Given the description of an element on the screen output the (x, y) to click on. 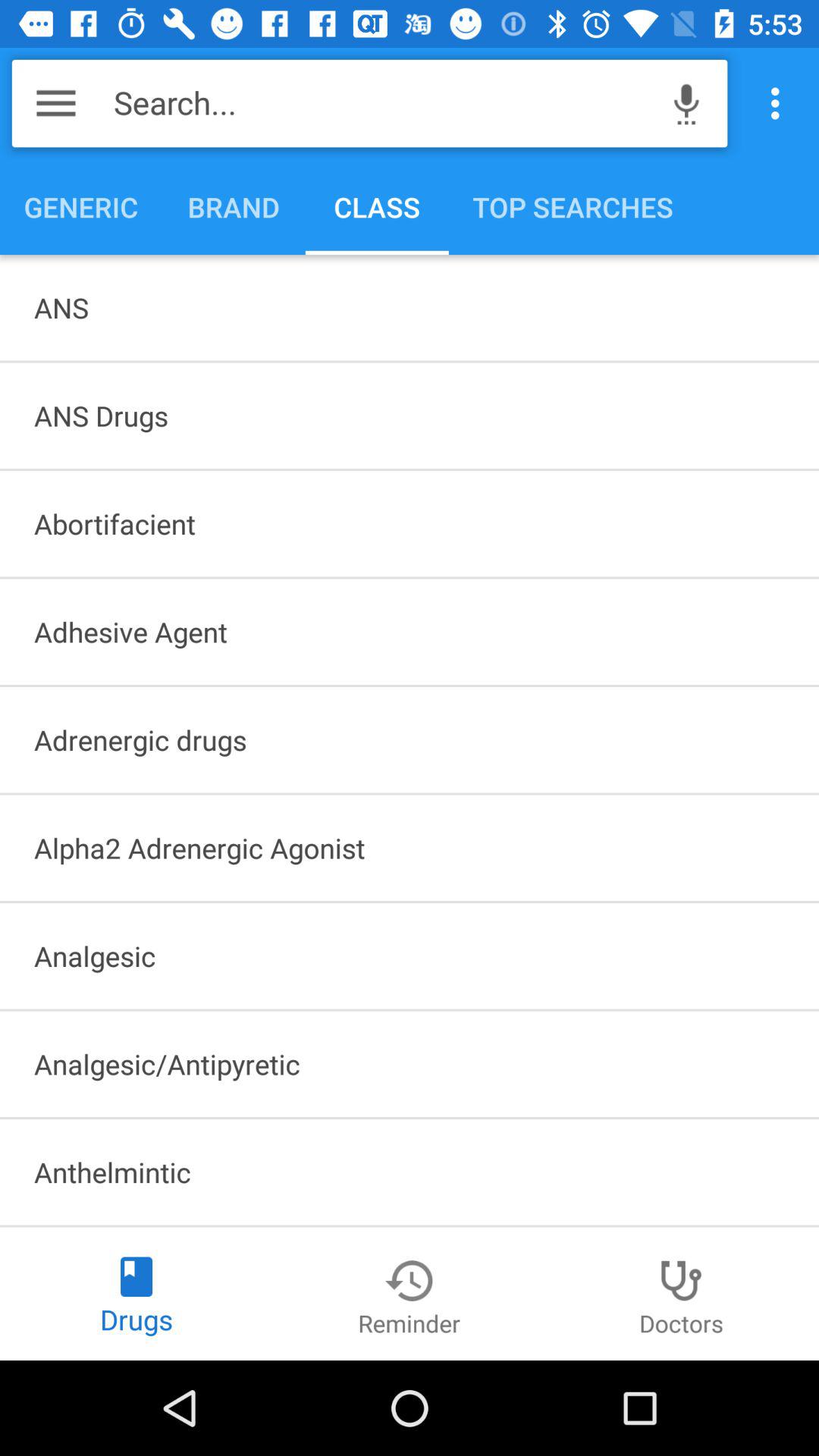
open item above anthelmintic icon (409, 1063)
